Given the description of an element on the screen output the (x, y) to click on. 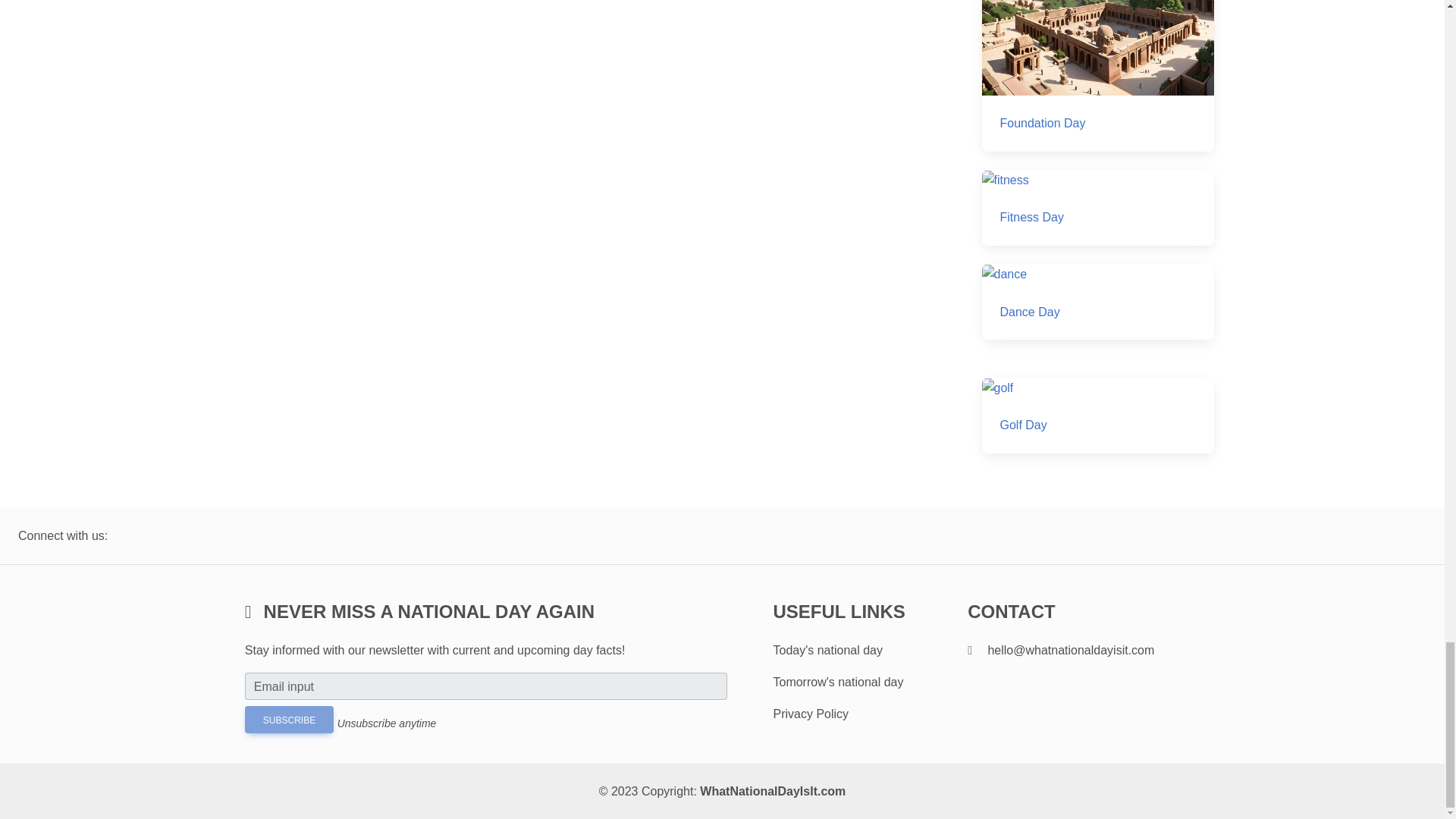
Fitness Day (1096, 207)
Dance Day (1096, 301)
Tomorrow's national day (837, 681)
Today's national day (827, 649)
SUBSCRIBE (288, 719)
Foundation Day (1096, 75)
Golf Day (1096, 415)
Privacy Policy (810, 713)
WhatNationalDayIsIt.com (772, 790)
